Given the description of an element on the screen output the (x, y) to click on. 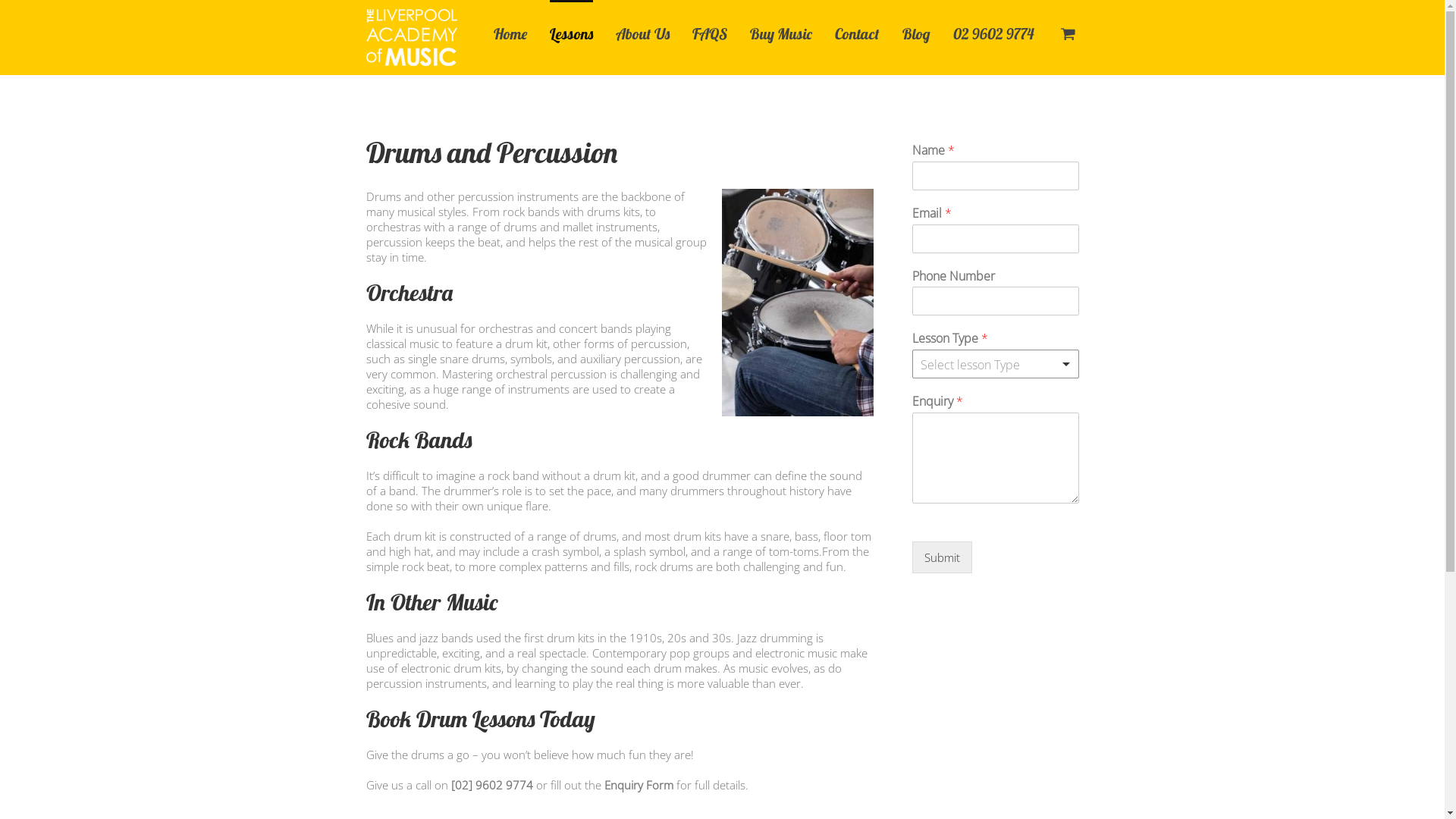
Blog Element type: text (916, 32)
FAQS Element type: text (708, 32)
About Us Element type: text (642, 32)
Submit Element type: text (941, 557)
02 9602 9774 Element type: text (992, 32)
Contact Element type: text (856, 32)
Lessons Element type: text (570, 32)
Home Element type: text (509, 32)
Buy Music Element type: text (780, 32)
